Given the description of an element on the screen output the (x, y) to click on. 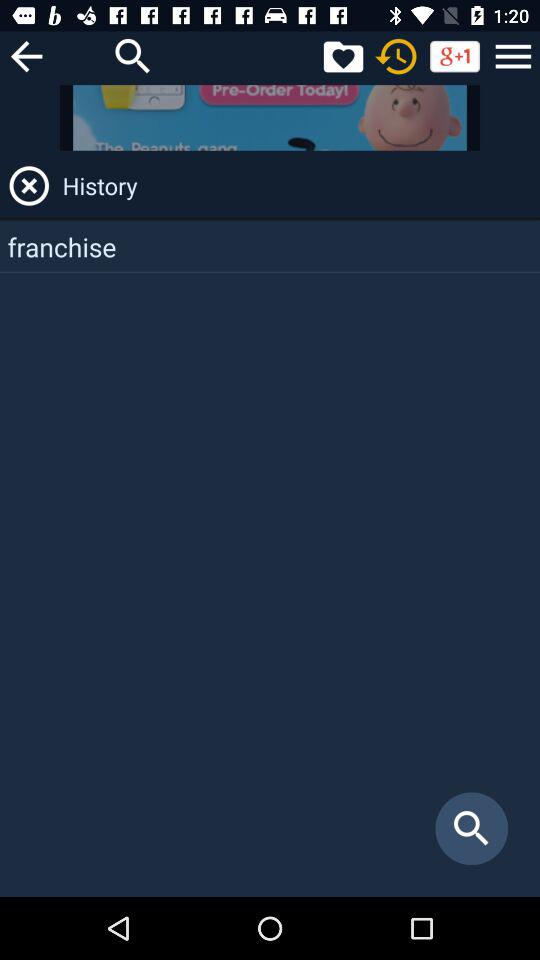
click the item above history (270, 117)
